Given the description of an element on the screen output the (x, y) to click on. 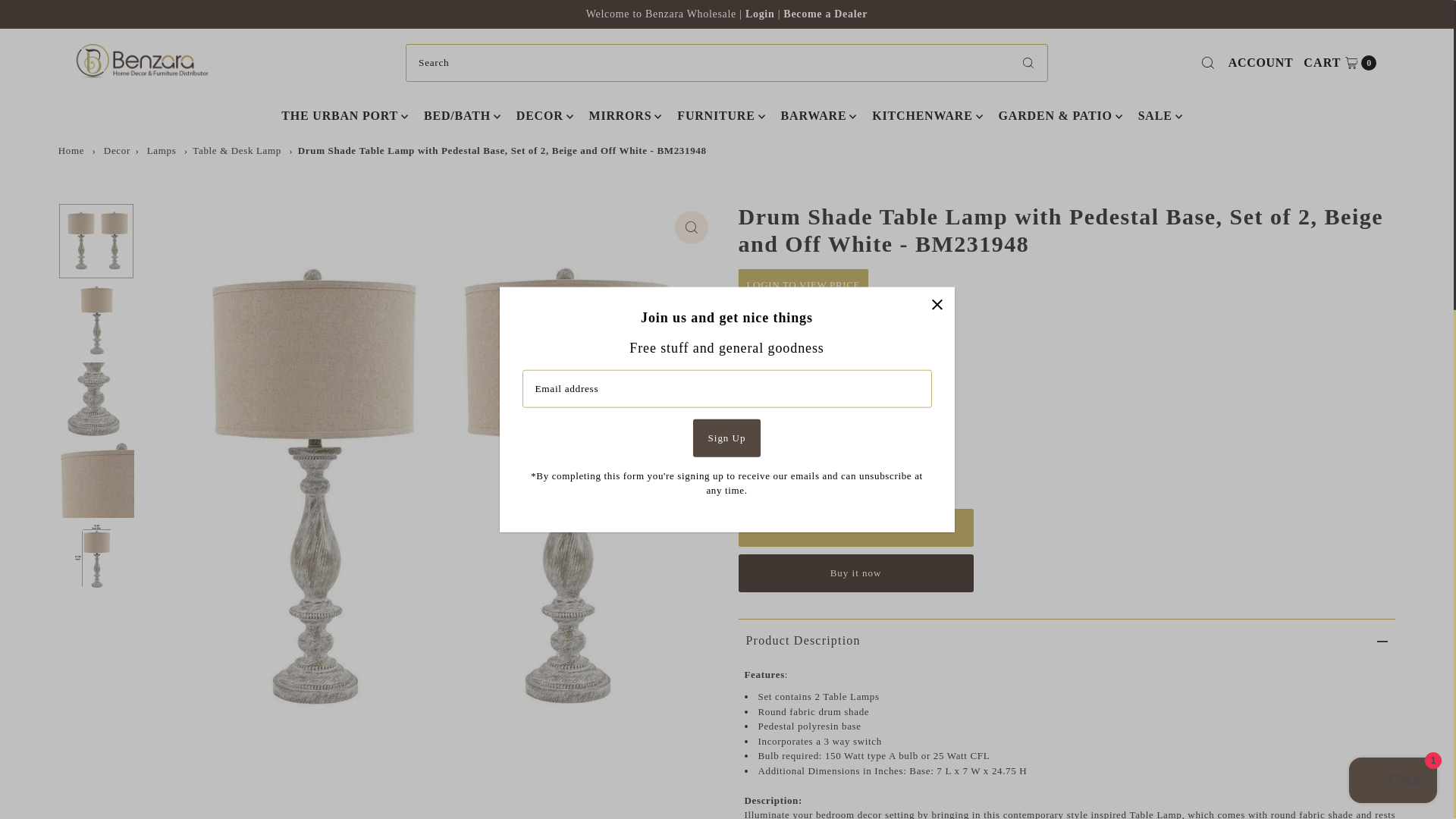
Sign Up (727, 437)
Lamps (161, 149)
Login (761, 13)
Decor (117, 149)
Add to Cart (856, 526)
THE URBAN PORT (339, 116)
Click to zoom (1340, 62)
Become a Dealer (691, 227)
Home (825, 13)
ACCOUNT (71, 149)
